Given the description of an element on the screen output the (x, y) to click on. 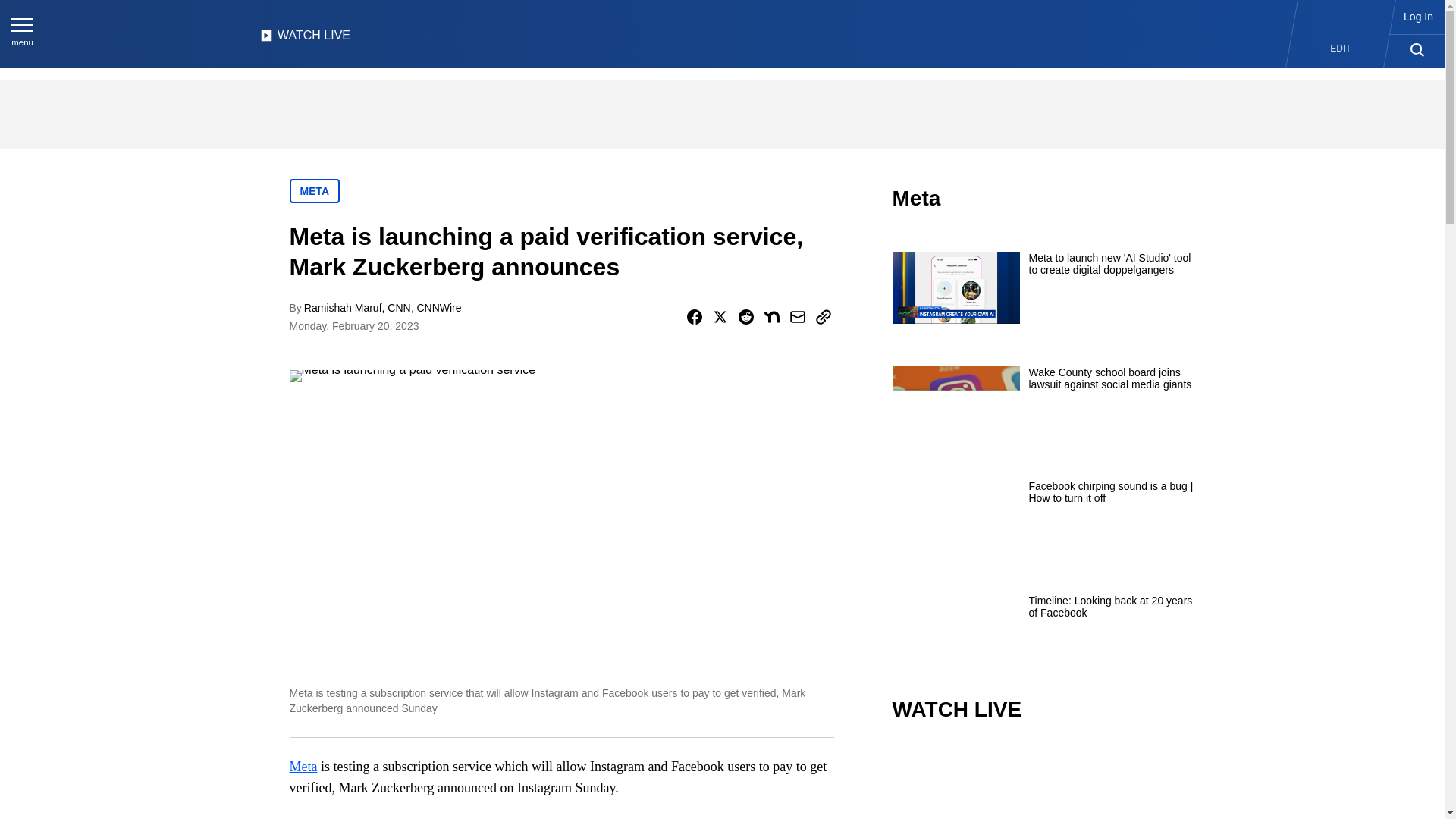
WATCH LIVE (305, 39)
EDIT (1340, 48)
video.title (1043, 781)
